Given the description of an element on the screen output the (x, y) to click on. 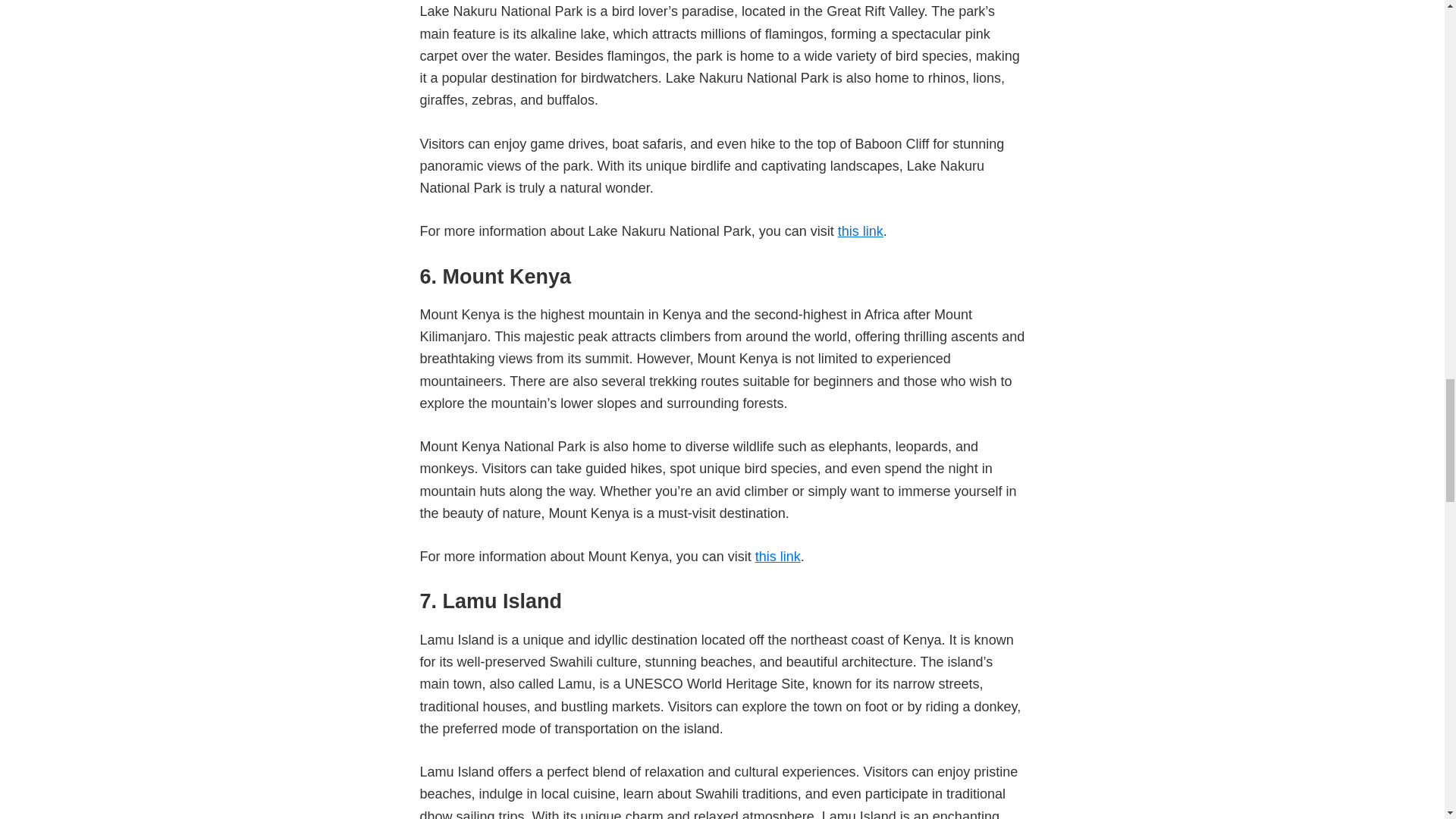
this link (860, 231)
this link (777, 556)
